Given the description of an element on the screen output the (x, y) to click on. 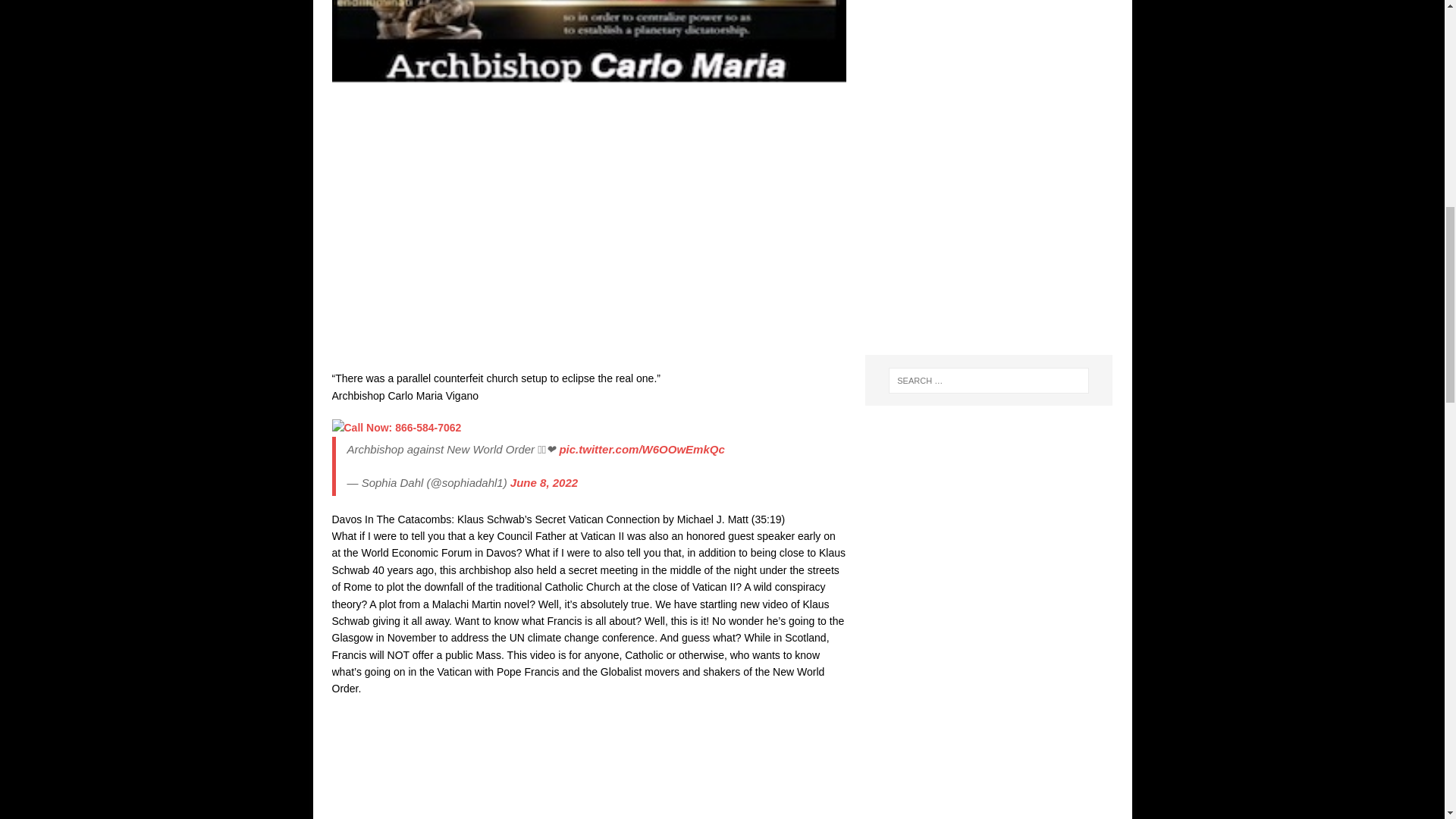
June 8, 2022 (544, 481)
NWO-Hell (588, 80)
